Given the description of an element on the screen output the (x, y) to click on. 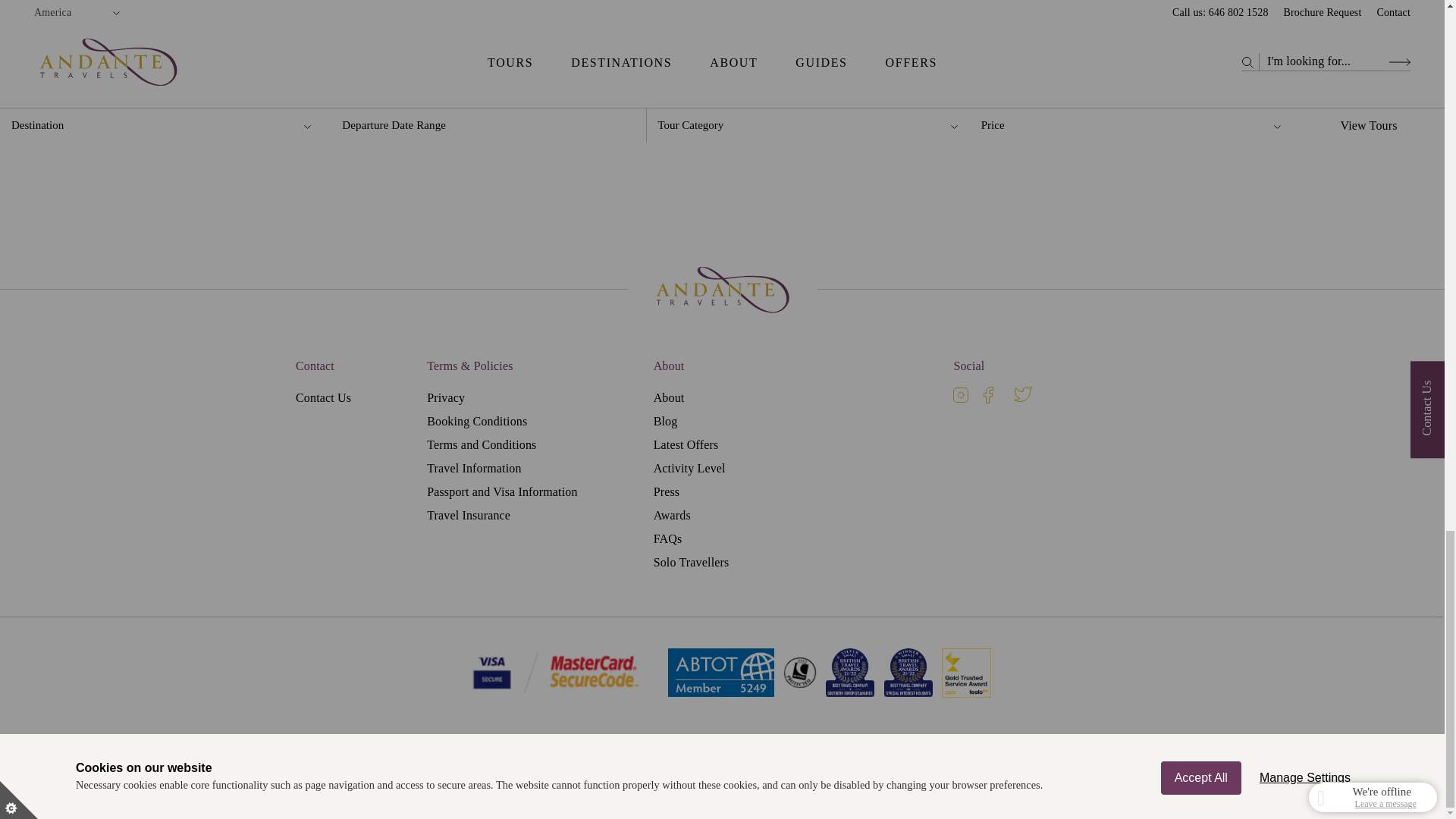
Contact (314, 365)
Travel Information (473, 468)
Travel Insurance (468, 514)
View Full Details (1096, 75)
Passport and Visa Information (501, 490)
Blog (665, 420)
Terms and Conditions (480, 443)
About (668, 396)
Privacy (445, 396)
View Full Details (723, 75)
Booking Conditions (476, 420)
Contact Us (322, 396)
About (668, 365)
View Full Details (352, 75)
Latest Offers (686, 443)
